Given the description of an element on the screen output the (x, y) to click on. 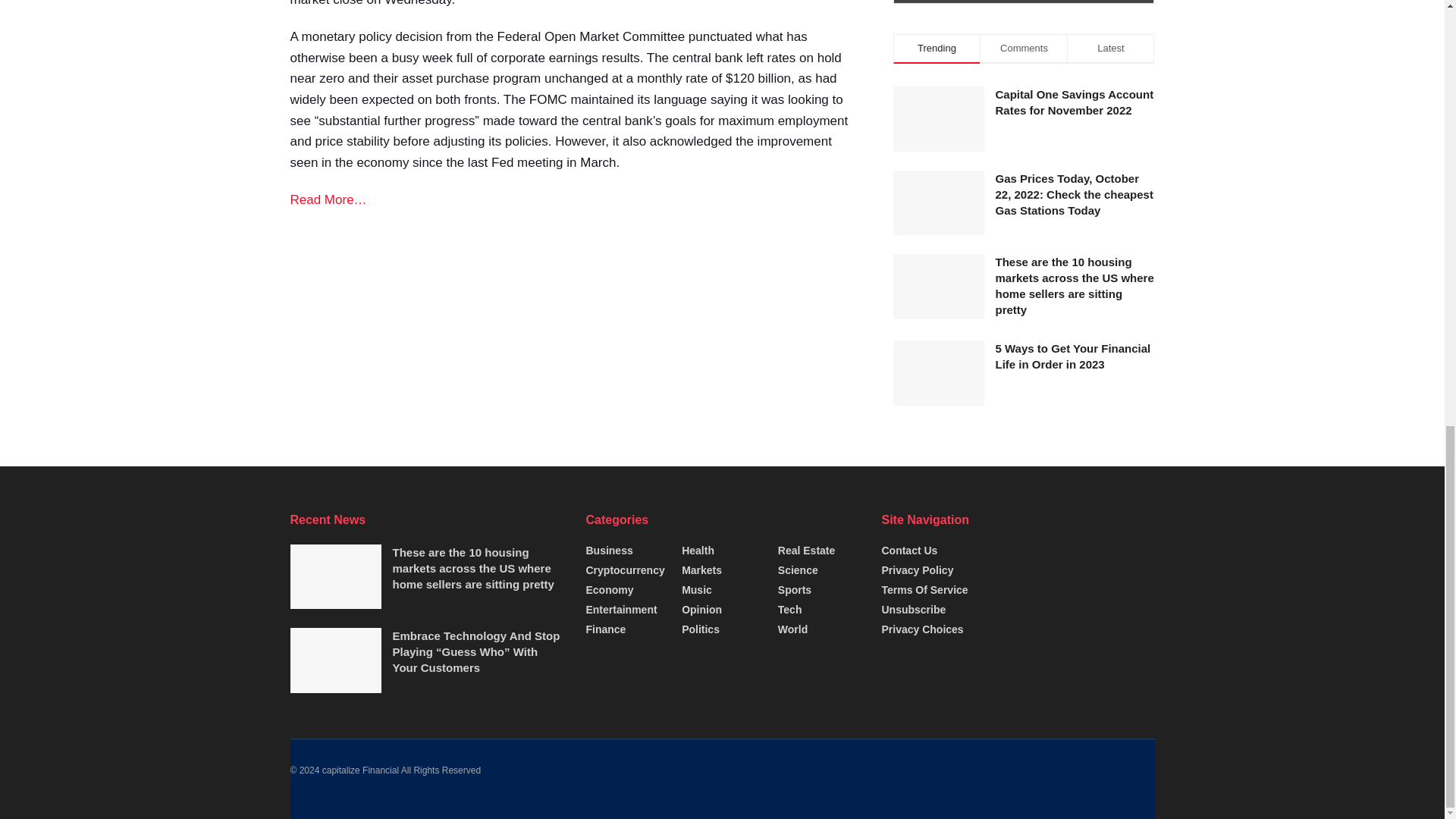
Subscribe (1023, 2)
